Given the description of an element on the screen output the (x, y) to click on. 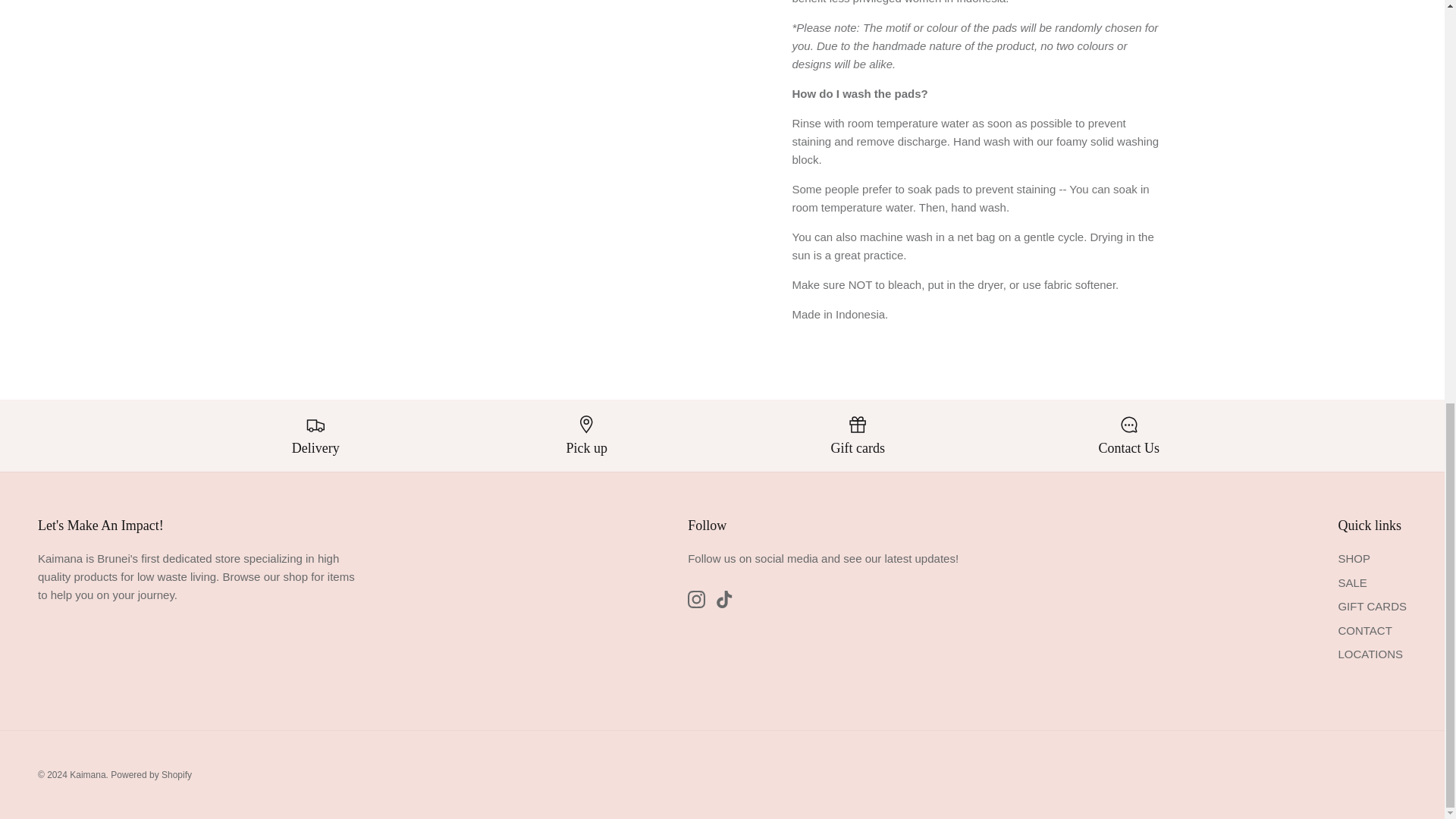
Instagram (695, 599)
